Given the description of an element on the screen output the (x, y) to click on. 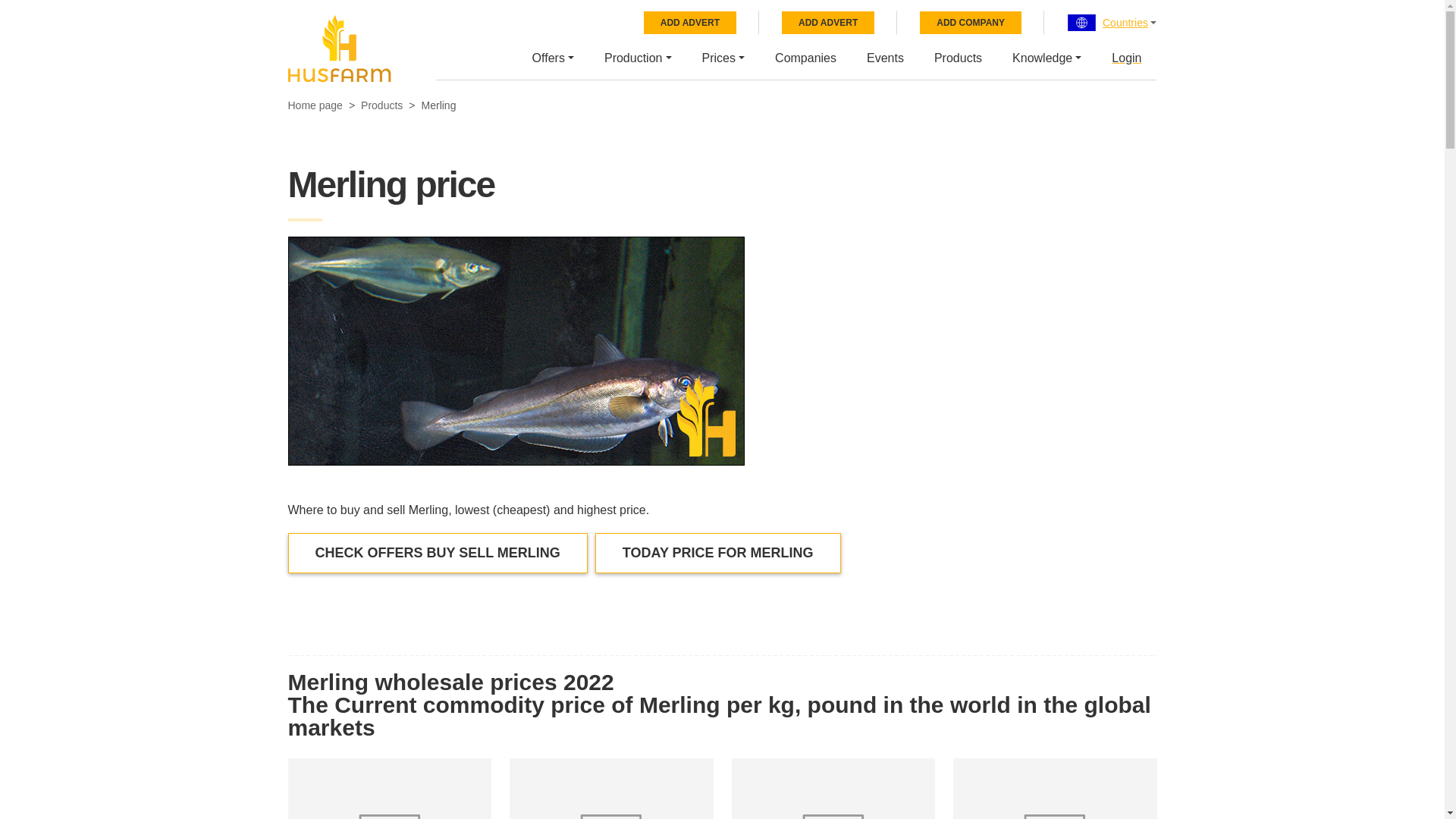
Knowledge (1046, 56)
Prices (723, 56)
ADD ADVERT (689, 22)
Login (1126, 56)
Offers (552, 56)
Countries (1125, 23)
Companies (804, 56)
ADD ADVERT (828, 22)
Products (957, 56)
ADD COMPANY (971, 22)
Production (637, 56)
